Given the description of an element on the screen output the (x, y) to click on. 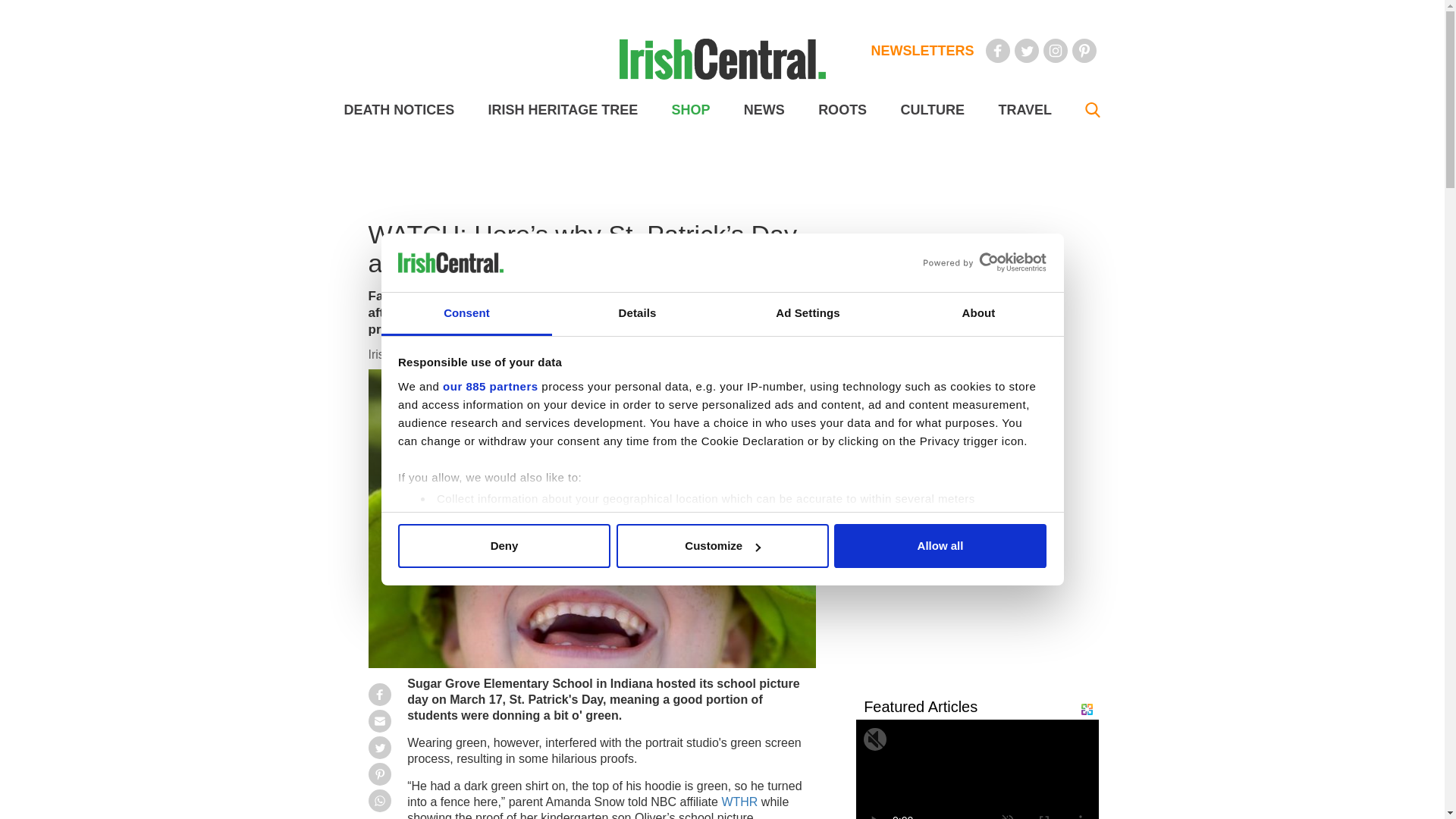
our 885 partners (490, 386)
About (978, 313)
details section (927, 536)
Ad Settings (807, 313)
Details (636, 313)
Consent (465, 313)
